Given the description of an element on the screen output the (x, y) to click on. 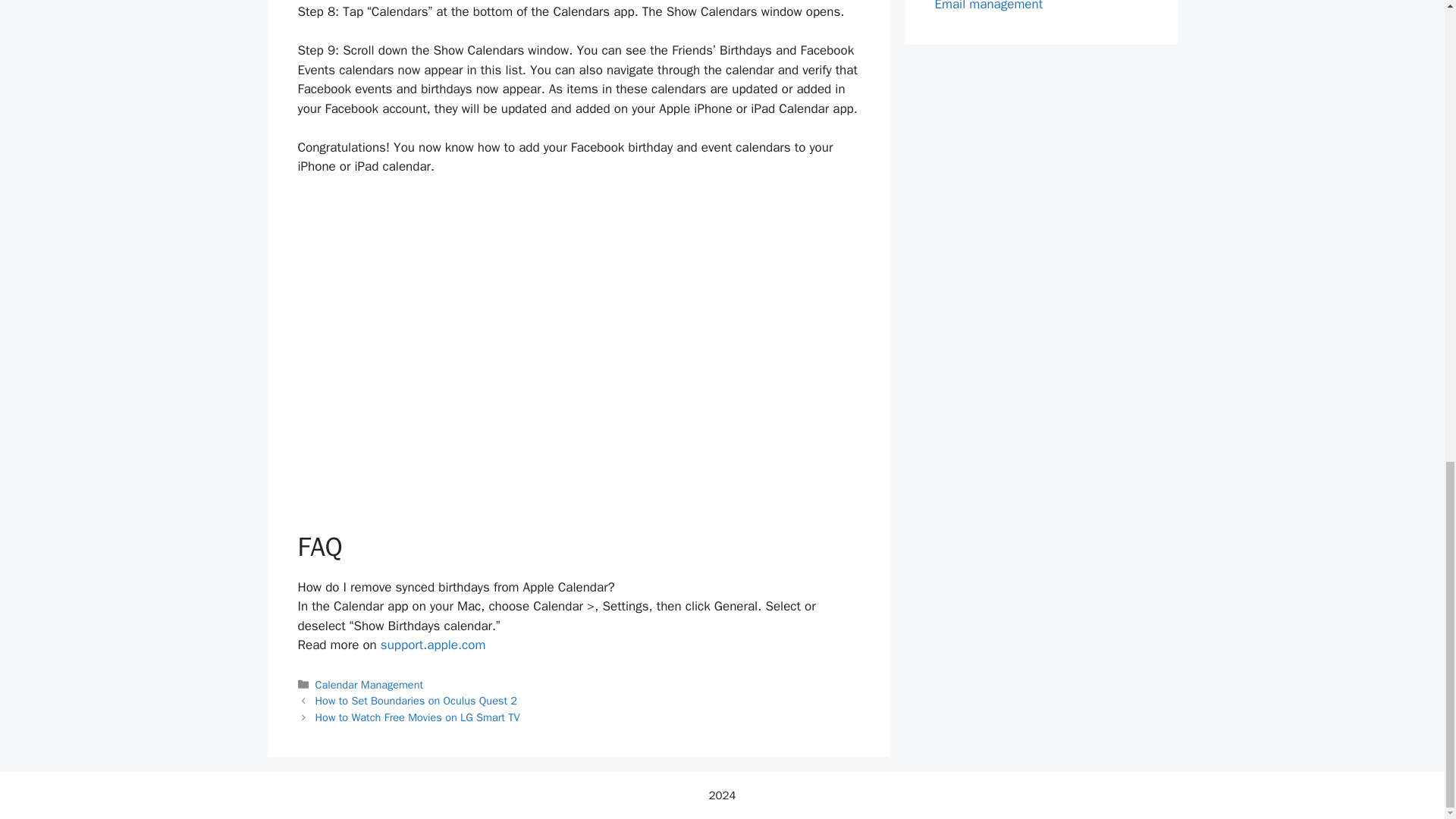
Calendar Management (369, 684)
How to Set Boundaries on Oculus Quest 2 (415, 700)
Email management (988, 6)
How to Watch Free Movies on LG Smart TV (417, 716)
support.apple.com (433, 644)
